Given the description of an element on the screen output the (x, y) to click on. 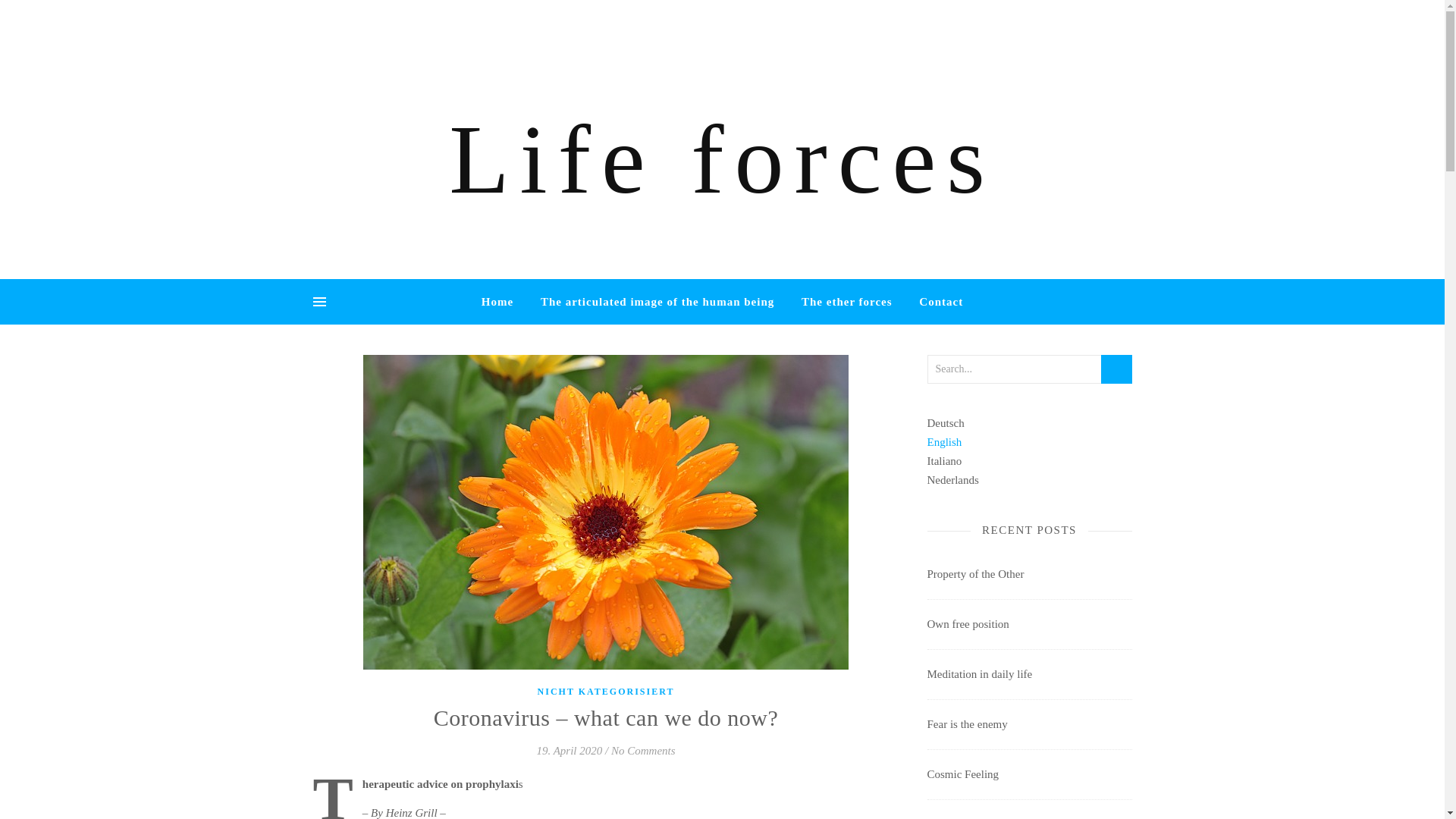
Home (503, 301)
Life forces (721, 159)
No Comments (643, 750)
The ether forces (846, 301)
NICHT KATEGORISIERT (606, 691)
The articulated image of the human being (657, 301)
Contact (934, 301)
